Given the description of an element on the screen output the (x, y) to click on. 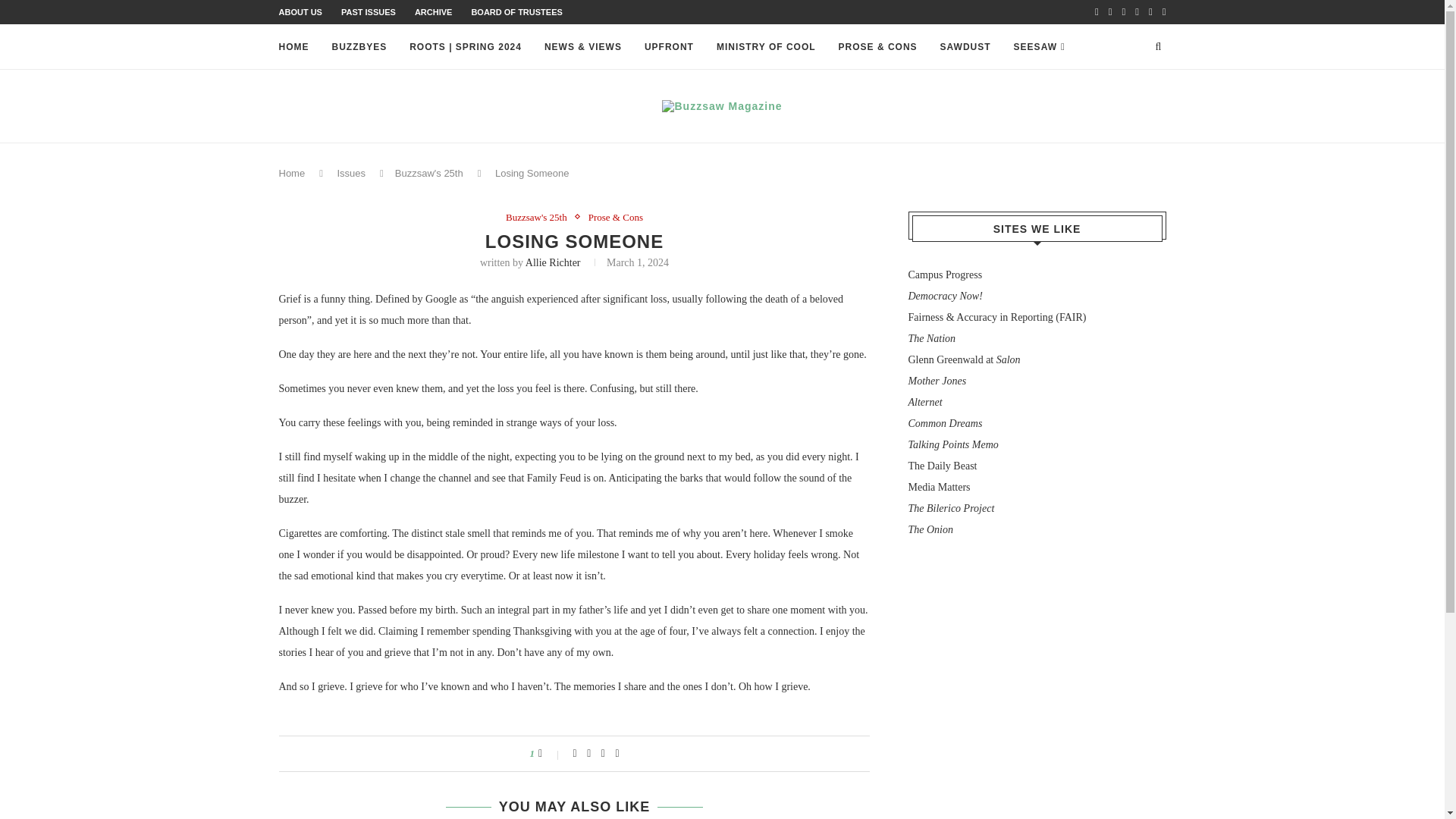
ABOUT US (300, 11)
Like (550, 753)
PAST ISSUES (368, 11)
